Given the description of an element on the screen output the (x, y) to click on. 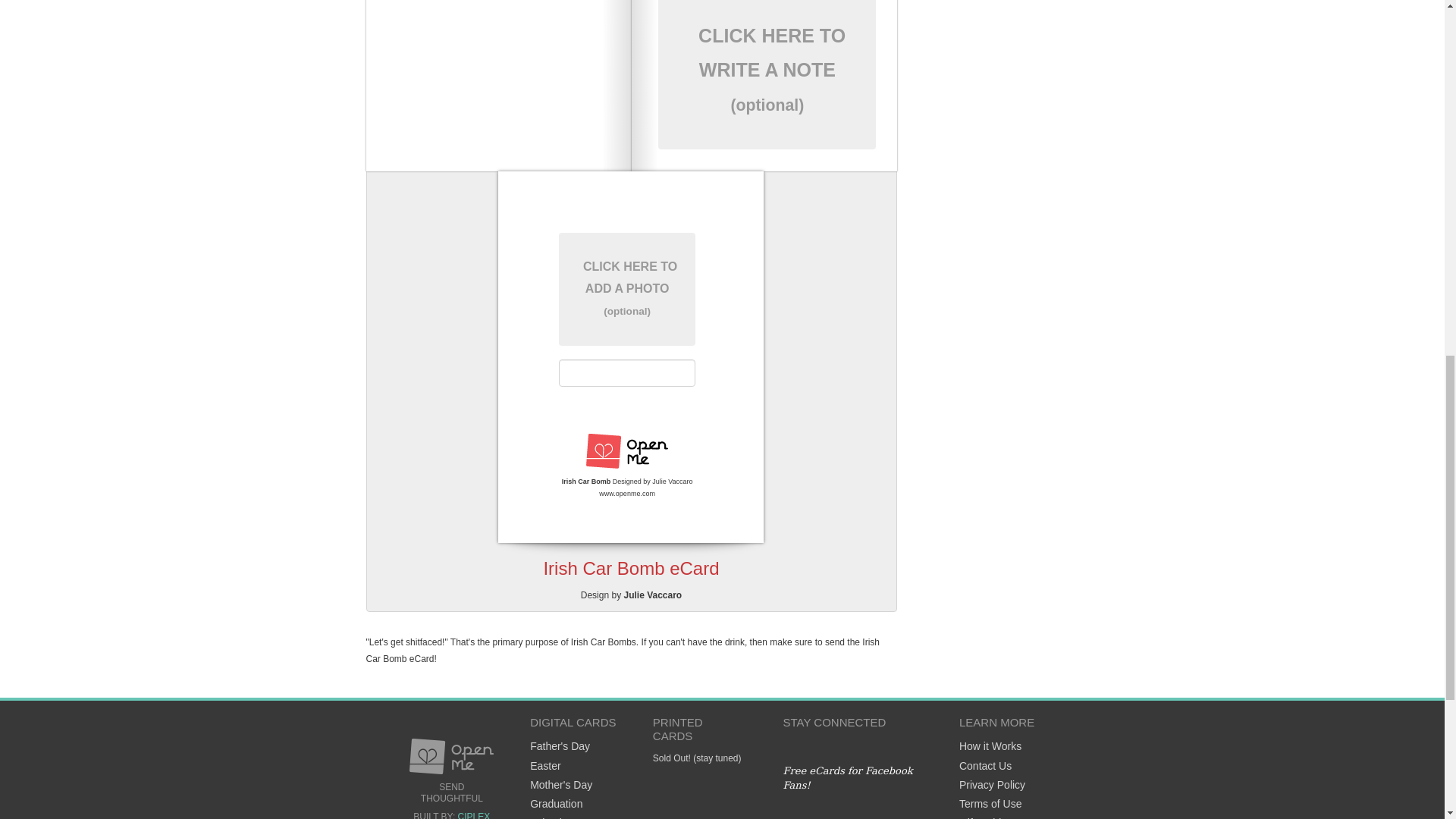
Follow on Tumblr (909, 745)
Follow on Facebook (879, 745)
Follow on Twitter (820, 745)
Follow on Pinterest (789, 745)
Follow on Google (849, 745)
